Given the description of an element on the screen output the (x, y) to click on. 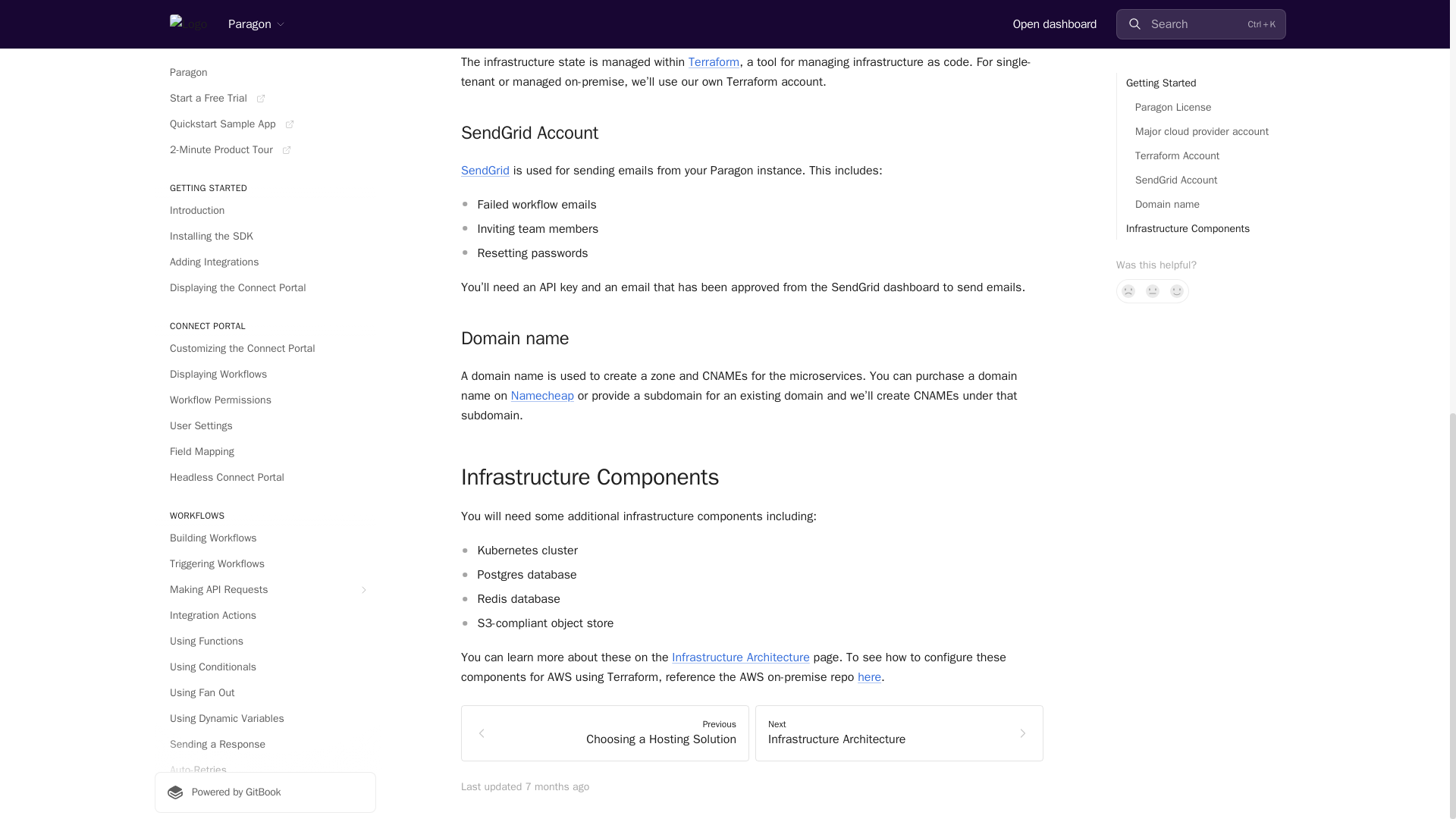
Managing Event Destinations (264, 124)
Environment Secrets (264, 12)
Viewing Task History (264, 72)
Managing Connected Users (264, 98)
